Given the description of an element on the screen output the (x, y) to click on. 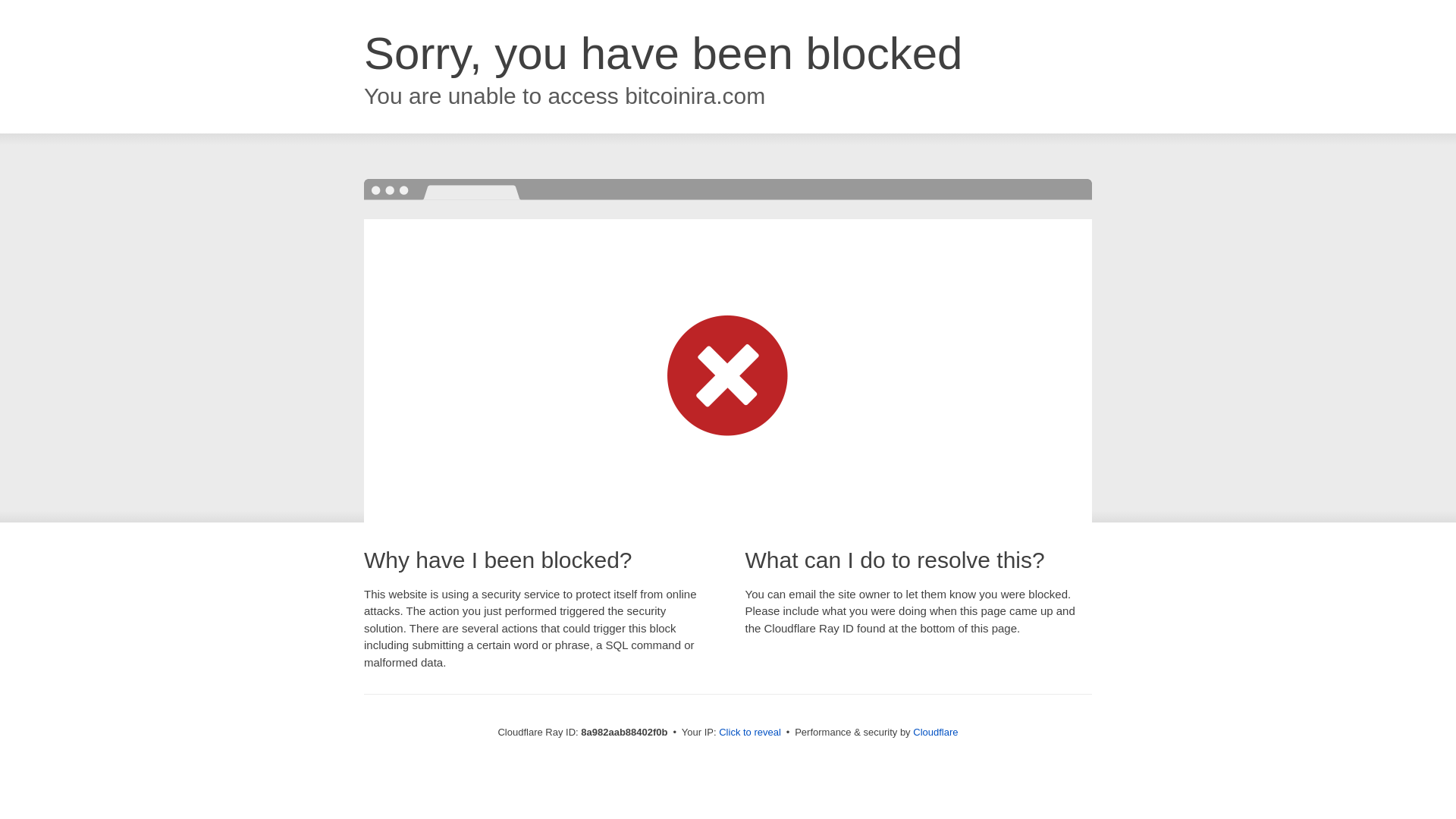
Click to reveal (749, 732)
Cloudflare (935, 731)
